Given the description of an element on the screen output the (x, y) to click on. 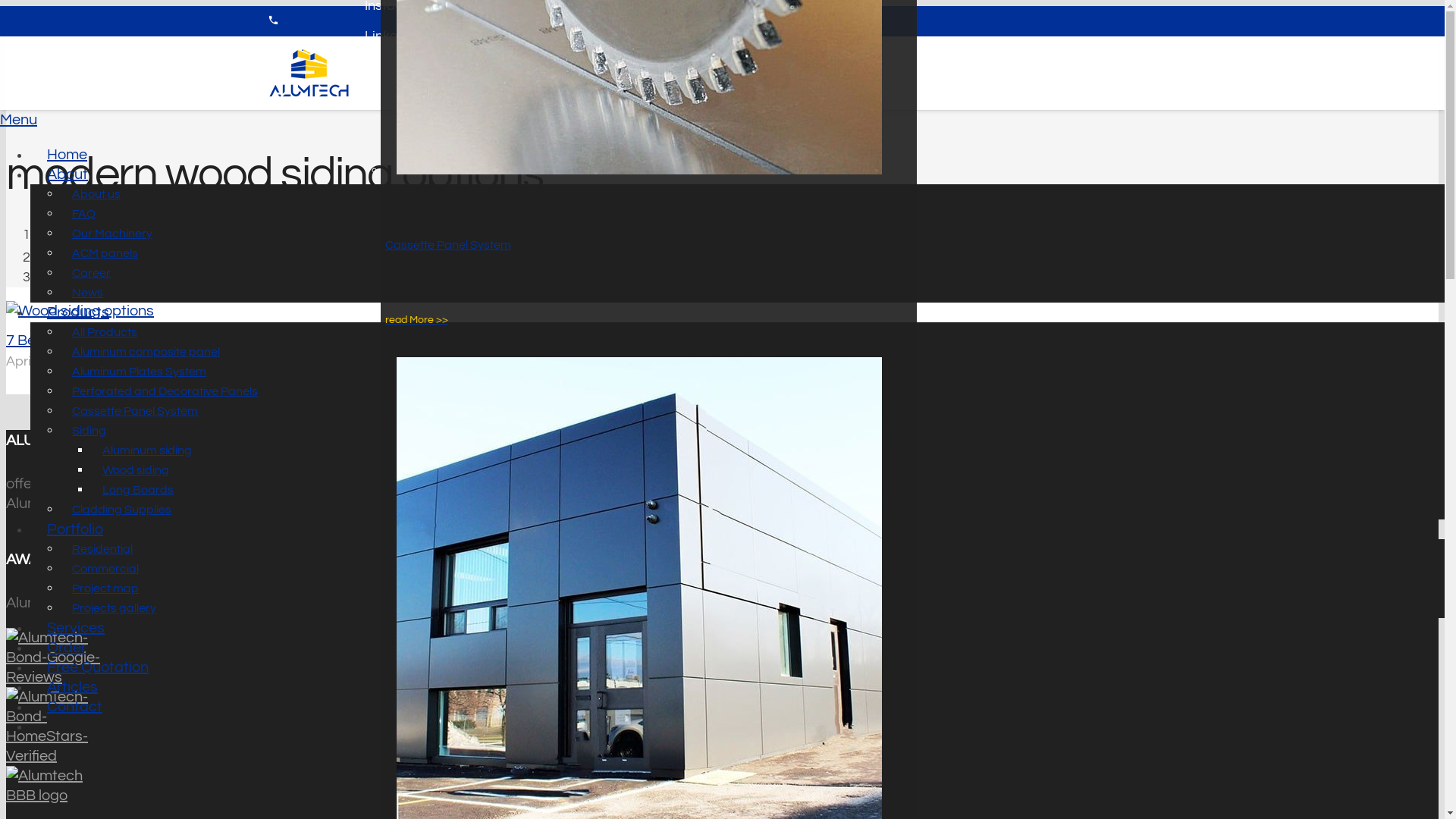
Articles Element type: text (72, 686)
Projects gallery Element type: text (113, 607)
About Element type: text (67, 174)
Career Element type: text (91, 272)
Siding Element type: text (88, 430)
BBB Element type: text (399, 602)
HomeStars Element type: text (330, 602)
Cassette Panel System Element type: text (134, 410)
All Products Element type: text (104, 331)
Cladding Supplies Element type: text (121, 509)
Menu Element type: text (722, 120)
Portfolio Element type: text (74, 528)
Perforated and Decorative Panels Element type: text (164, 390)
Long Boards Element type: text (138, 489)
Services Element type: text (75, 627)
Products Element type: text (77, 312)
Project map Element type: text (105, 587)
Our Machinery Element type: text (111, 232)
ACM panels Element type: text (104, 252)
Aluminum siding Element type: text (147, 449)
Home Element type: text (66, 154)
News Element type: text (87, 292)
Aluminum Plates System Element type: text (138, 371)
Aluminum composite panel Element type: text (145, 351)
Commercial Element type: text (105, 568)
Free Quotation Element type: text (97, 666)
Contact Element type: text (74, 706)
Home Element type: text (54, 234)
About us Element type: text (95, 193)
7 Best Wood Siding Options in Canada Element type: text (135, 340)
modern wood siding options Element type: text (122, 276)
Order Element type: text (66, 647)
FAQ Element type: text (83, 213)
Residential Element type: text (102, 548)
Wood siding Element type: text (135, 469)
+1 (416) 490.6664 Element type: text (321, 22)
Cassette Panel System
read More >> Element type: text (633, 244)
